Given the description of an element on the screen output the (x, y) to click on. 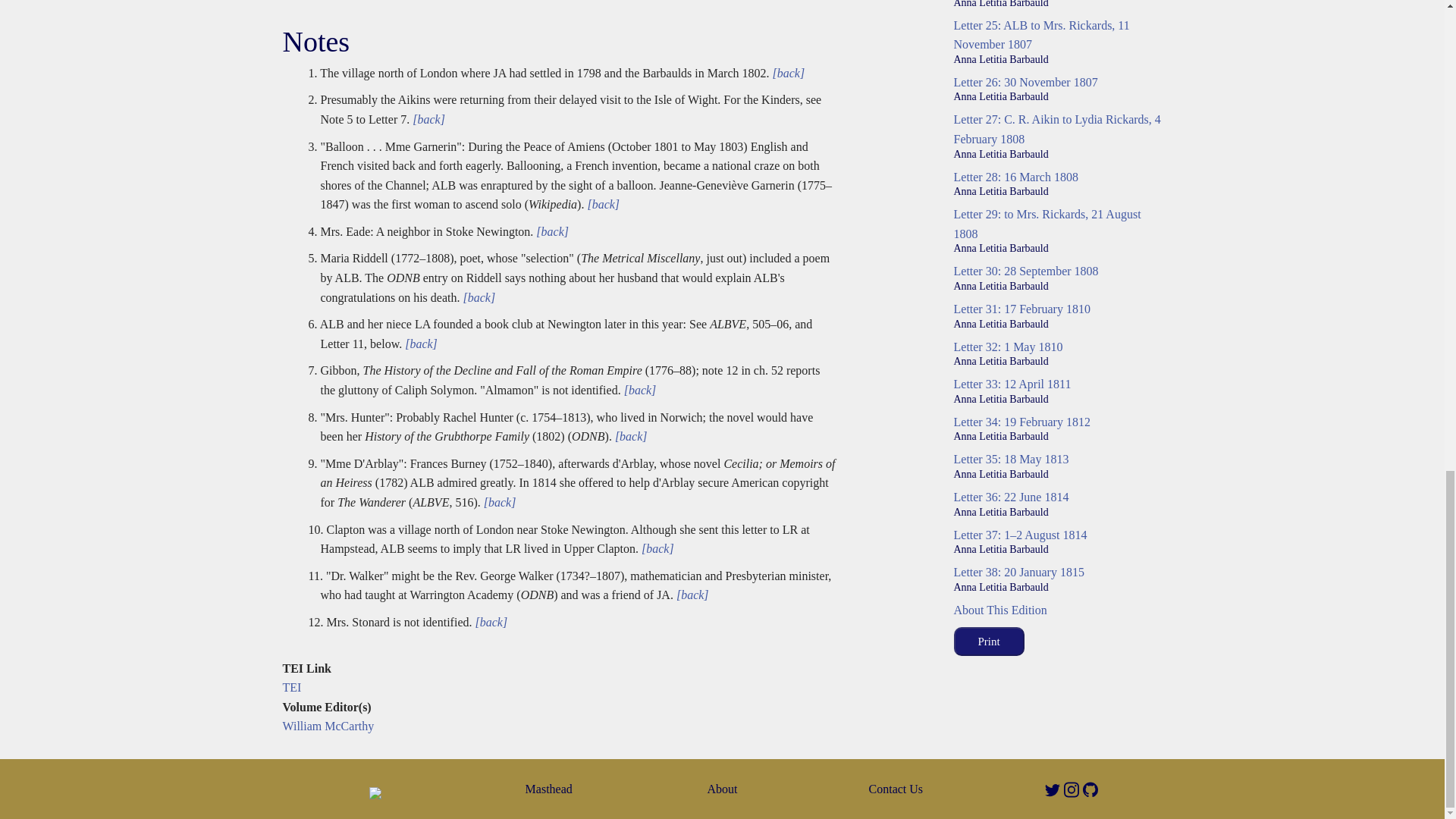
Go back to text (419, 343)
Go back to text (638, 390)
Go back to text (601, 204)
Go back to text (550, 231)
Go back to text (629, 436)
Go back to text (498, 502)
Go back to text (427, 119)
Go back to text (656, 548)
Go back to text (690, 594)
Go back to text (787, 72)
Go back to text (477, 297)
Go back to text (488, 621)
